Given the description of an element on the screen output the (x, y) to click on. 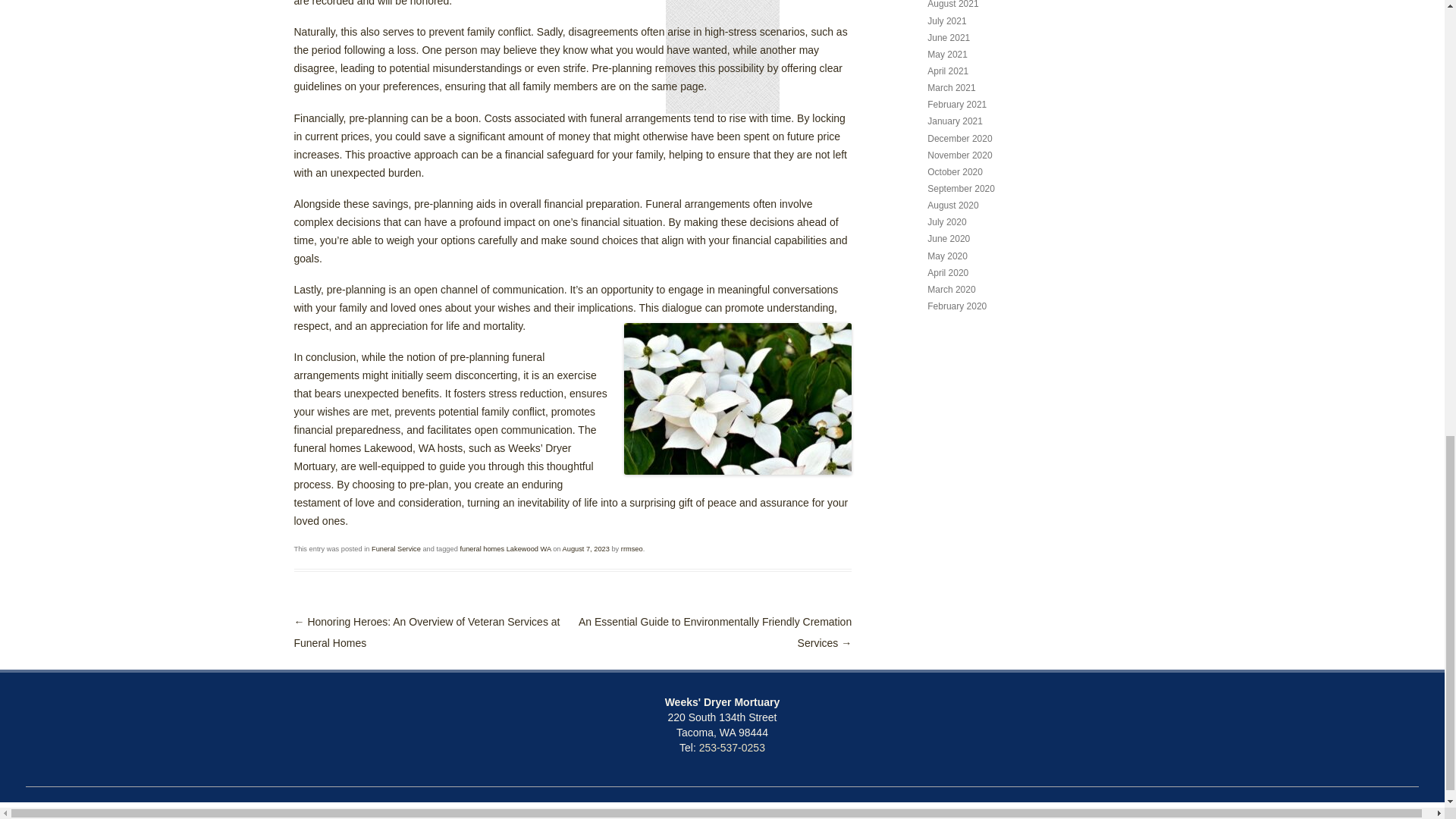
11:34 am (586, 548)
View all posts by rrmseo (632, 548)
